Given the description of an element on the screen output the (x, y) to click on. 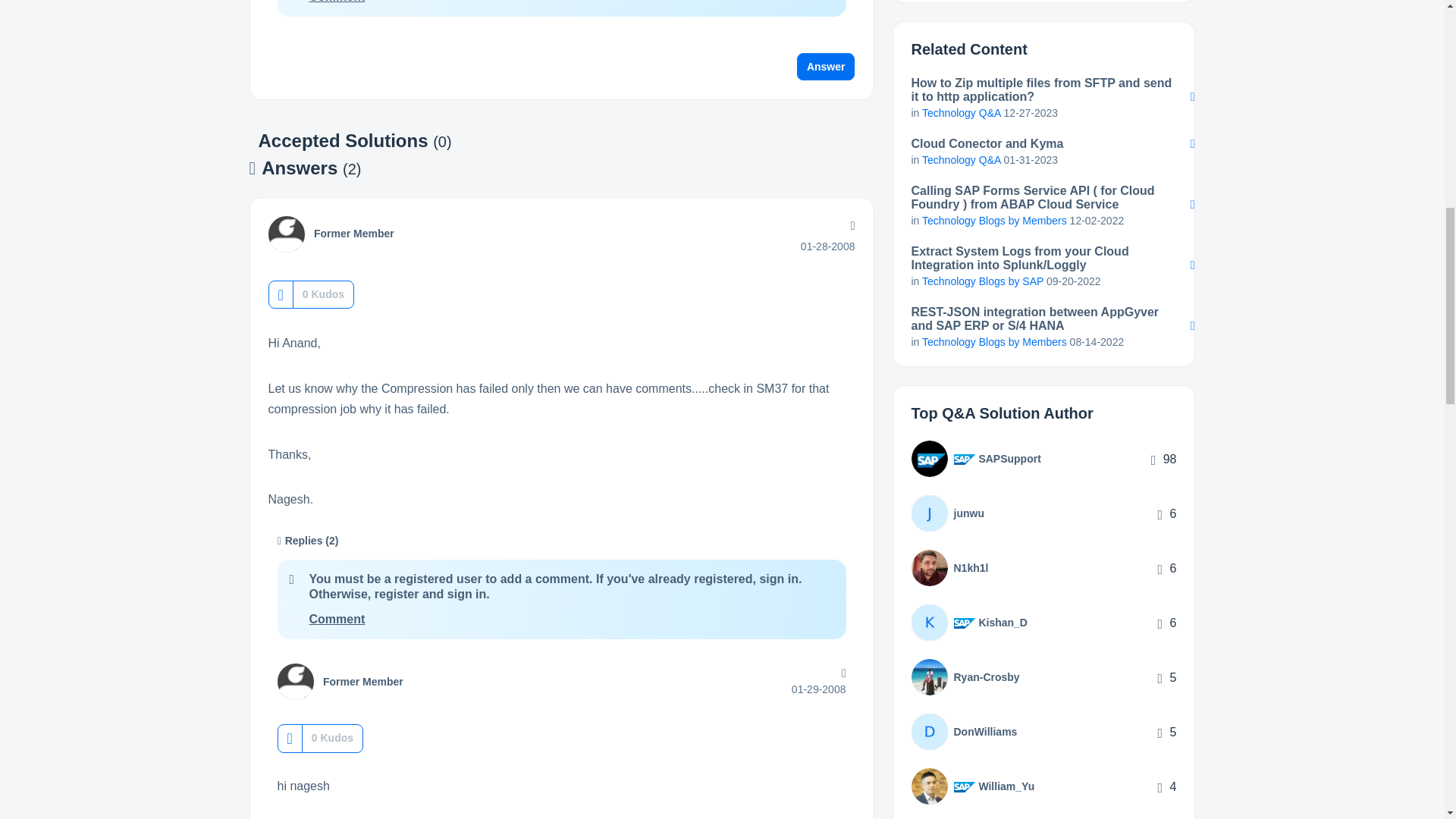
Comment (336, 1)
Answer (826, 66)
The total number of kudos this post has received. (323, 294)
Comment (336, 618)
Posted on (828, 246)
